Given the description of an element on the screen output the (x, y) to click on. 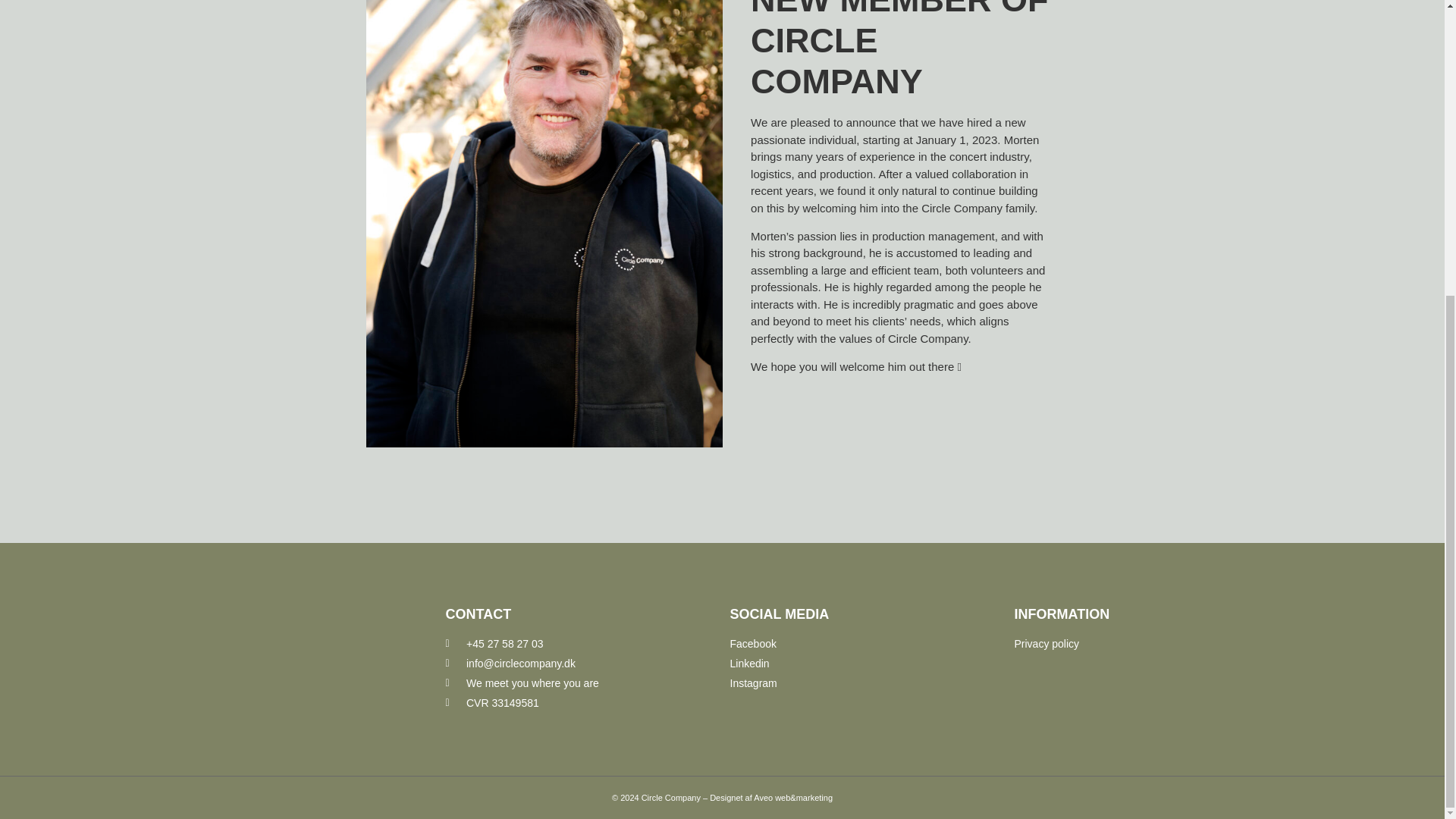
Instagram (863, 683)
Privacy policy (1149, 643)
Linkedin (863, 663)
Facebook (863, 643)
